Given the description of an element on the screen output the (x, y) to click on. 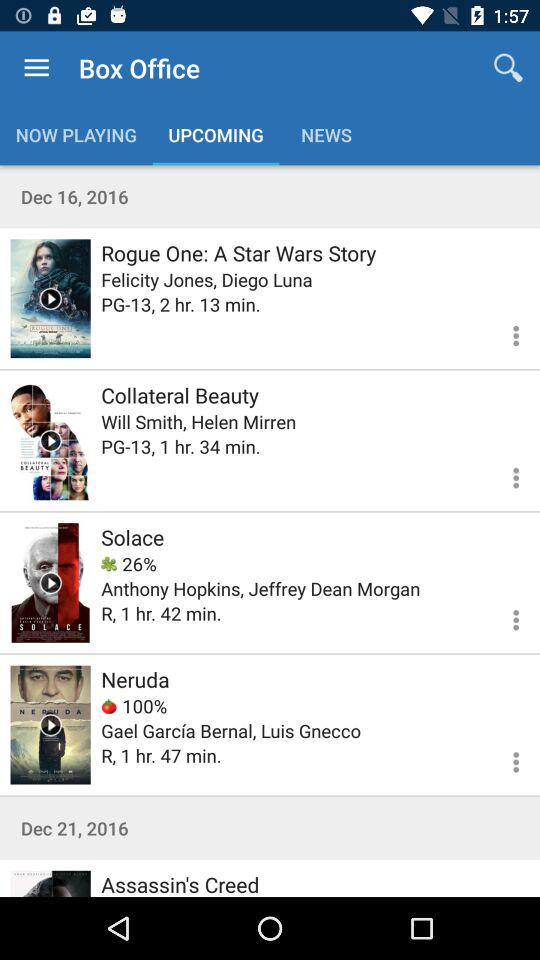
video (50, 724)
